Given the description of an element on the screen output the (x, y) to click on. 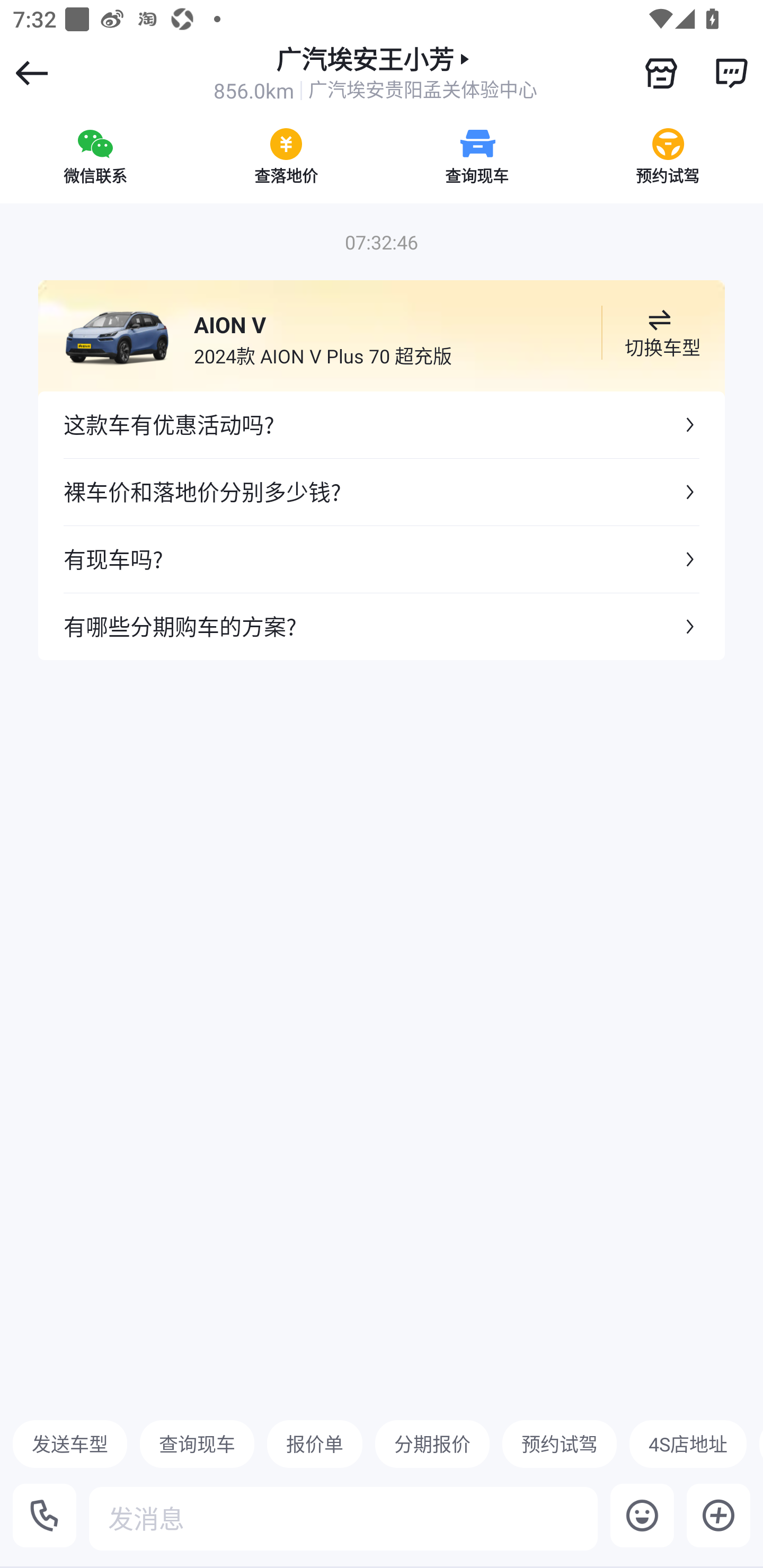
广汽埃安王小芳 856.0km 广汽埃安贵阳孟关体验中心 (374, 73)
 (730, 72)
 (661, 73)
微信联系 (95, 155)
查落地价 (285, 155)
查询现车 (476, 155)
预约试驾 (667, 155)
切换车型 (659, 332)
这款车有优惠活动吗? (381, 424)
裸车价和落地价分别多少钱? (381, 492)
有现车吗? (381, 558)
有哪些分期购车的方案? (381, 626)
发送车型 (69, 1443)
查询现车 (196, 1443)
报价单 (314, 1443)
分期报价 (432, 1443)
预约试驾 (559, 1443)
4S店地址 (687, 1443)
 (718, 1515)
发消息 (343, 1518)
